Given the description of an element on the screen output the (x, y) to click on. 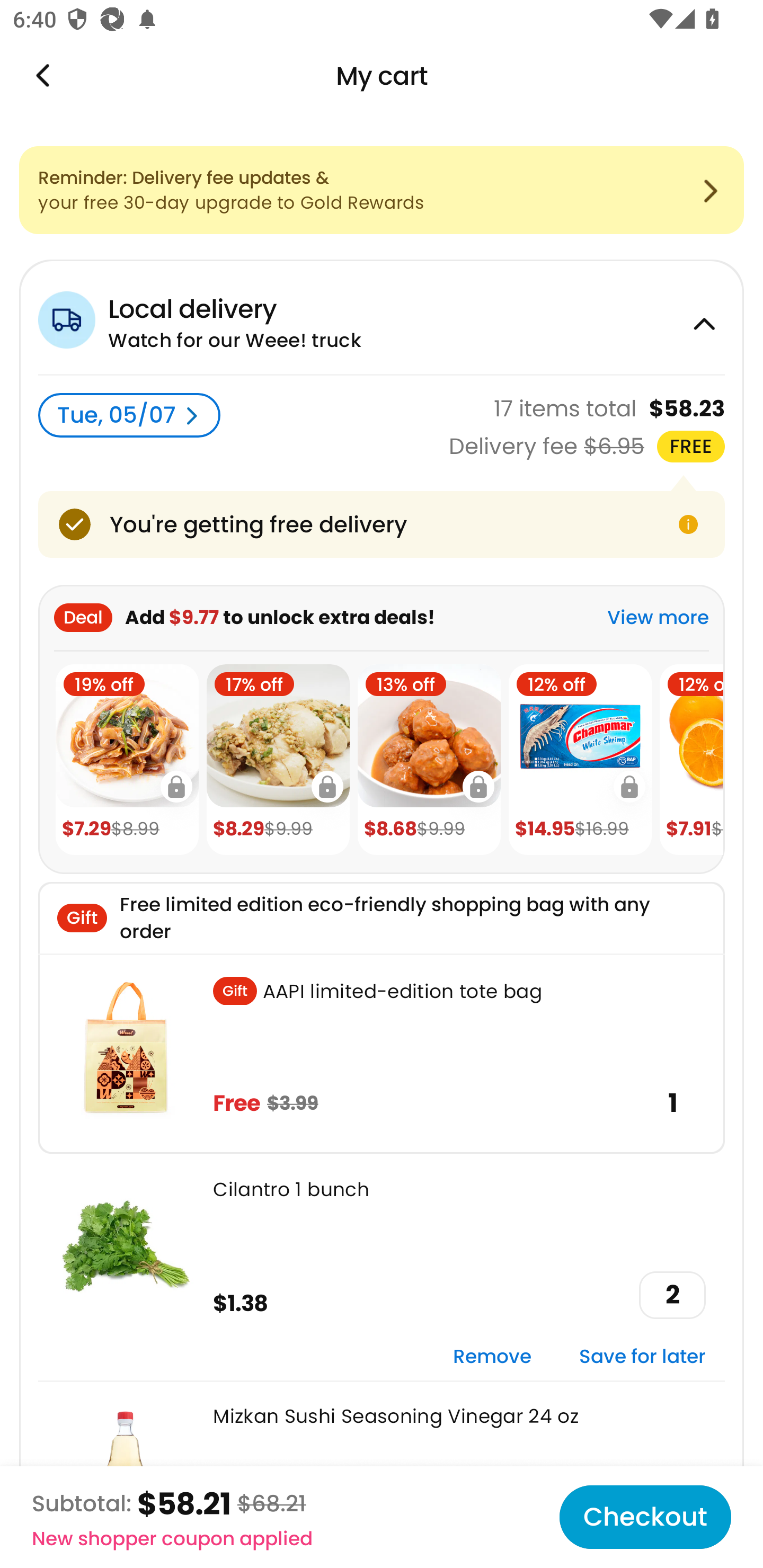
Local delivery Watch for our Weee! truck (381, 317)
Tue, 05/07 (129, 415)
You're getting free delivery (381, 524)
19% off $7.29 $8.99 (126, 759)
17% off $8.29 $9.99 (277, 759)
13% off $8.68 $9.99 (428, 759)
12% off $14.95 $16.99 (579, 759)
. AAPI limited-edition tote bag Free $3.99 1 (381, 1053)
Cilantro 1 bunch $1.38 2 Remove Save for later (381, 1266)
2 (672, 1294)
Remove (491, 1356)
Save for later (642, 1356)
Checkout (644, 1516)
